Given the description of an element on the screen output the (x, y) to click on. 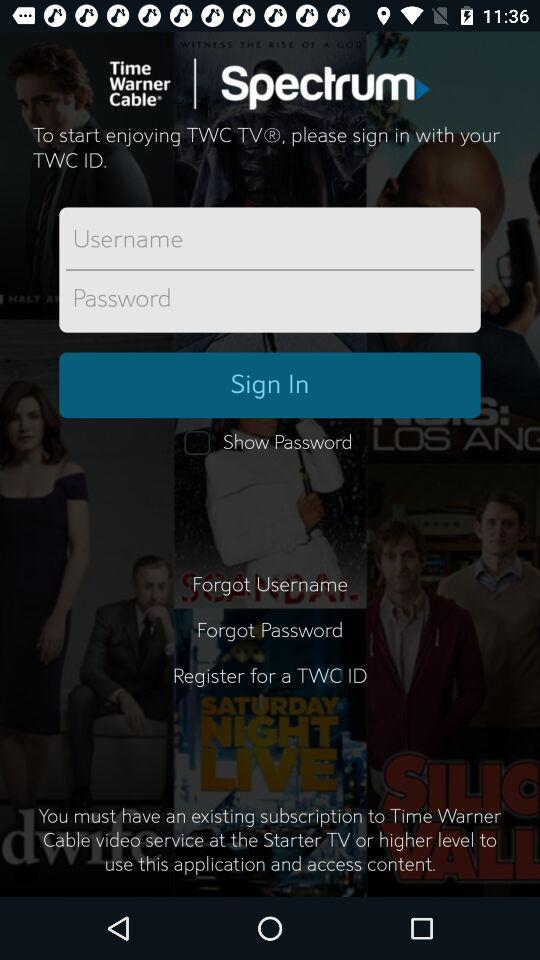
enter password (270, 299)
